Given the description of an element on the screen output the (x, y) to click on. 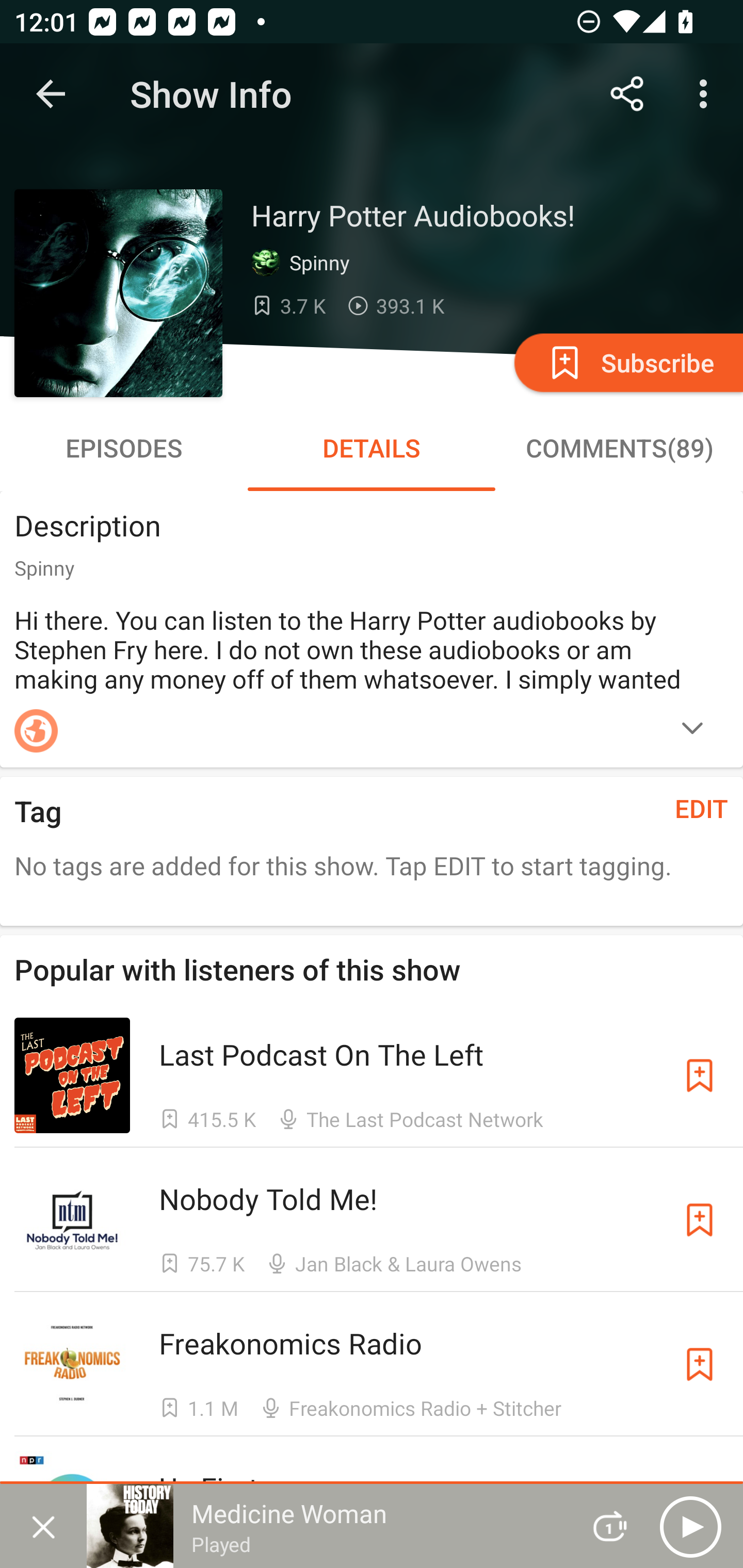
Navigate up (50, 93)
Share (626, 93)
More options (706, 93)
Spinny (304, 262)
Subscribe (627, 361)
EPISODES (123, 447)
DETAILS (371, 447)
COMMENTS(89) (619, 447)
 (692, 730)
EDIT (701, 807)
Subscribe (699, 1075)
Subscribe (699, 1219)
Subscribe (699, 1364)
Medicine Woman Played (326, 1525)
Play (690, 1526)
